Given the description of an element on the screen output the (x, y) to click on. 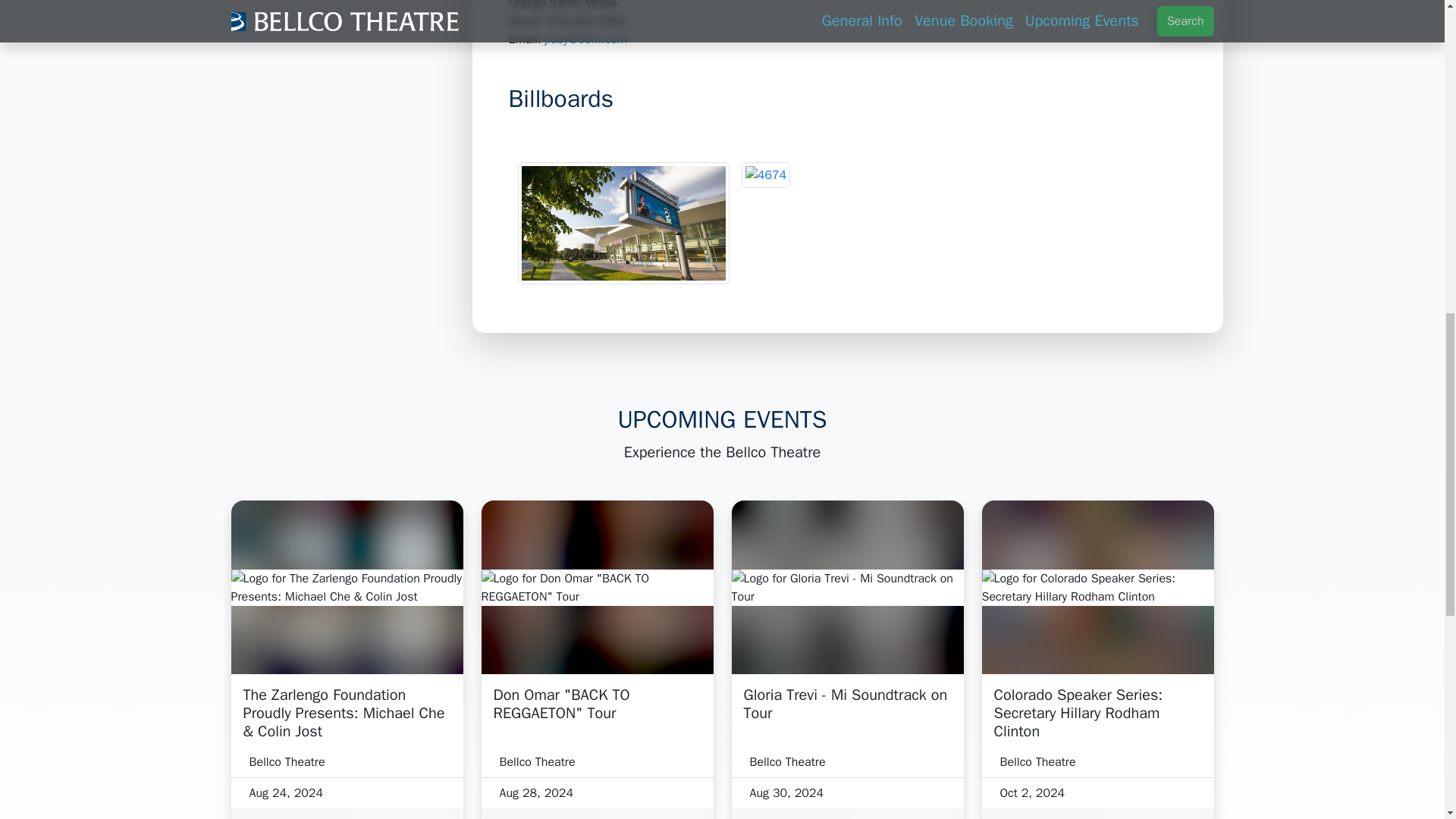
View Event Details (651, 816)
View Event Details (901, 816)
View Event Details (401, 816)
View Event Details (1152, 816)
